Given the description of an element on the screen output the (x, y) to click on. 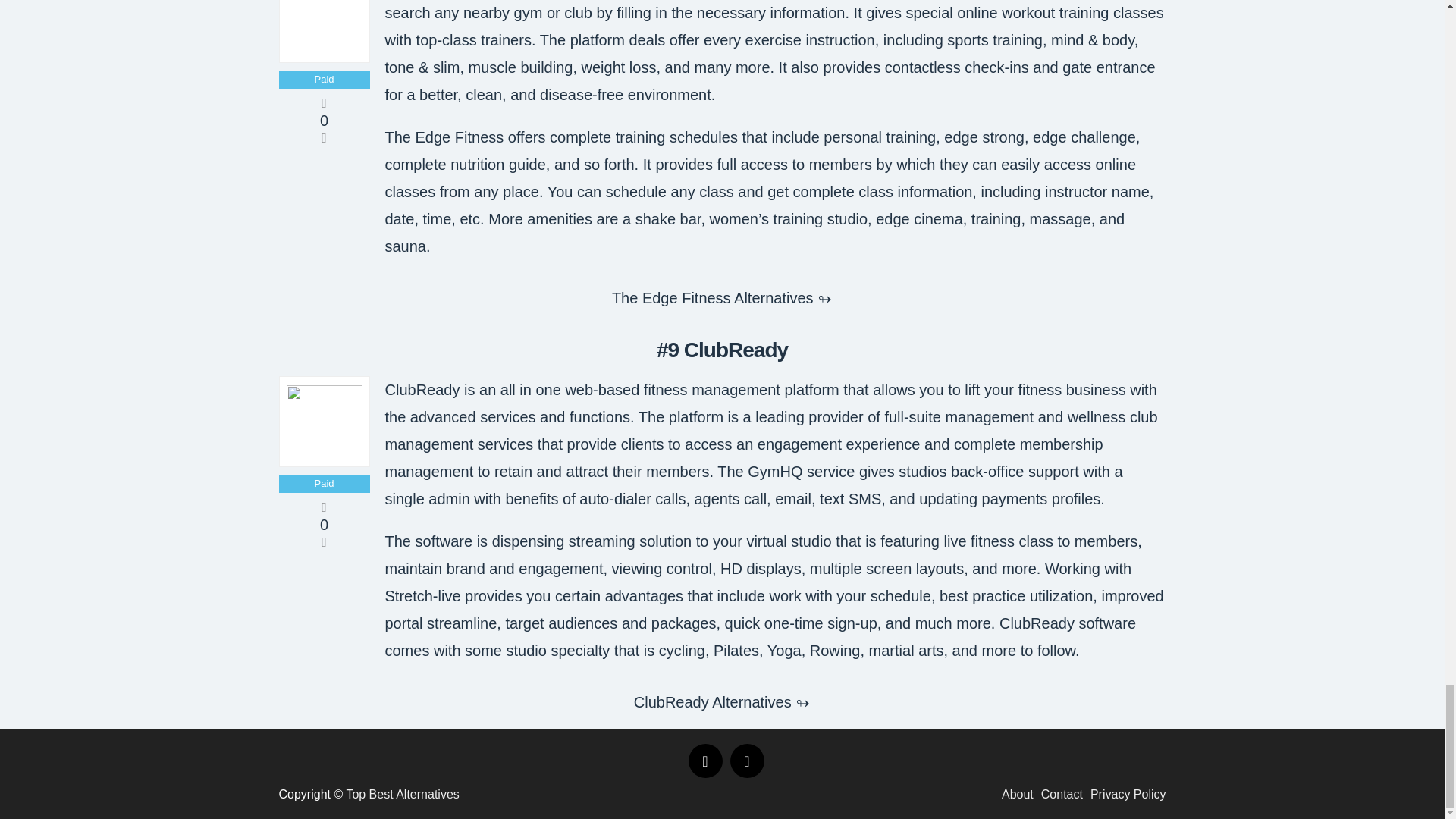
Twitter (745, 760)
Facebook (705, 760)
